Given the description of an element on the screen output the (x, y) to click on. 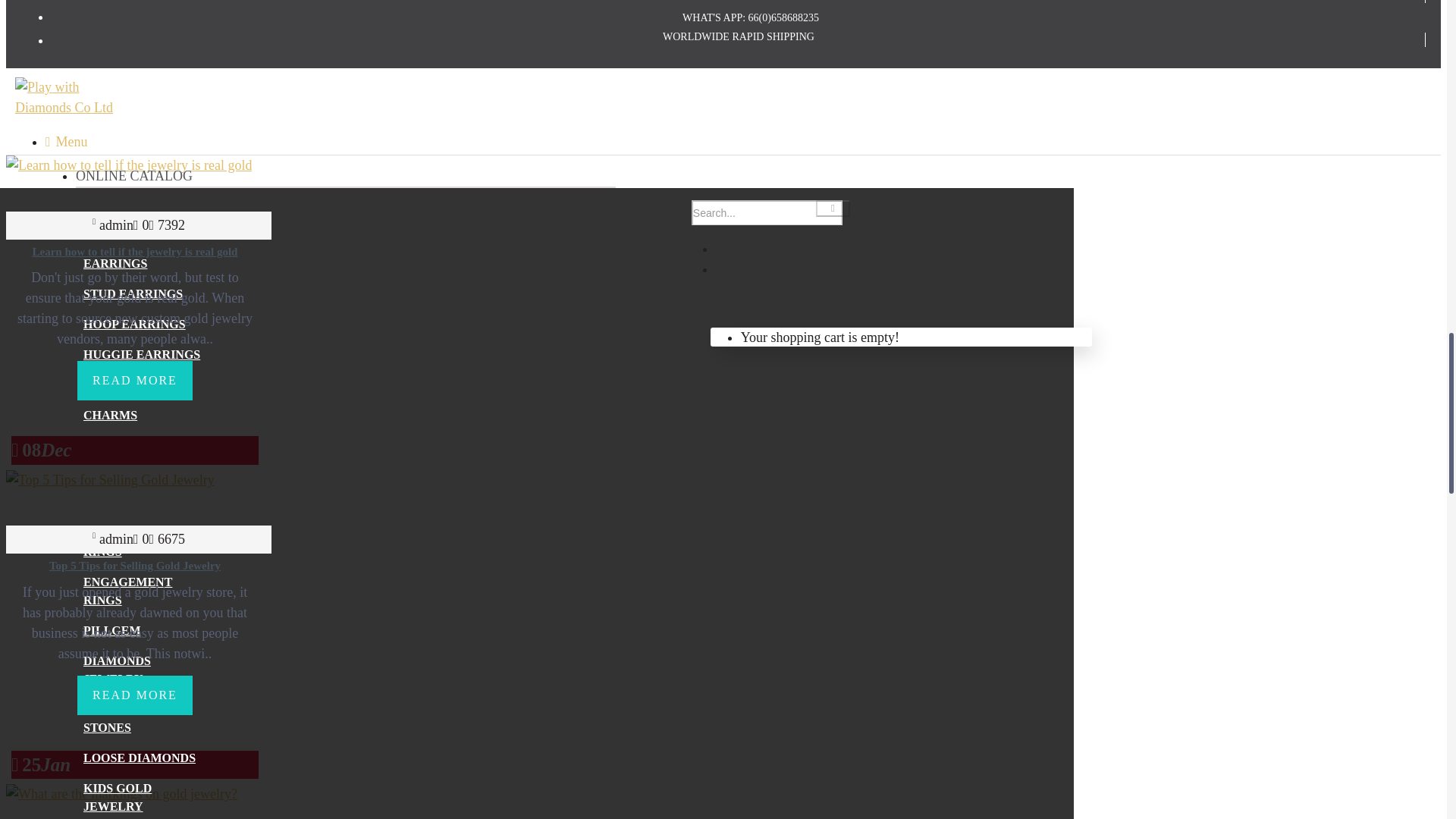
Top 5 Tips for Selling Gold Jewelry (109, 480)
Learn how to tell if the jewelry is real gold (128, 165)
What are the markings on gold jewelry? (121, 793)
